Given the description of an element on the screen output the (x, y) to click on. 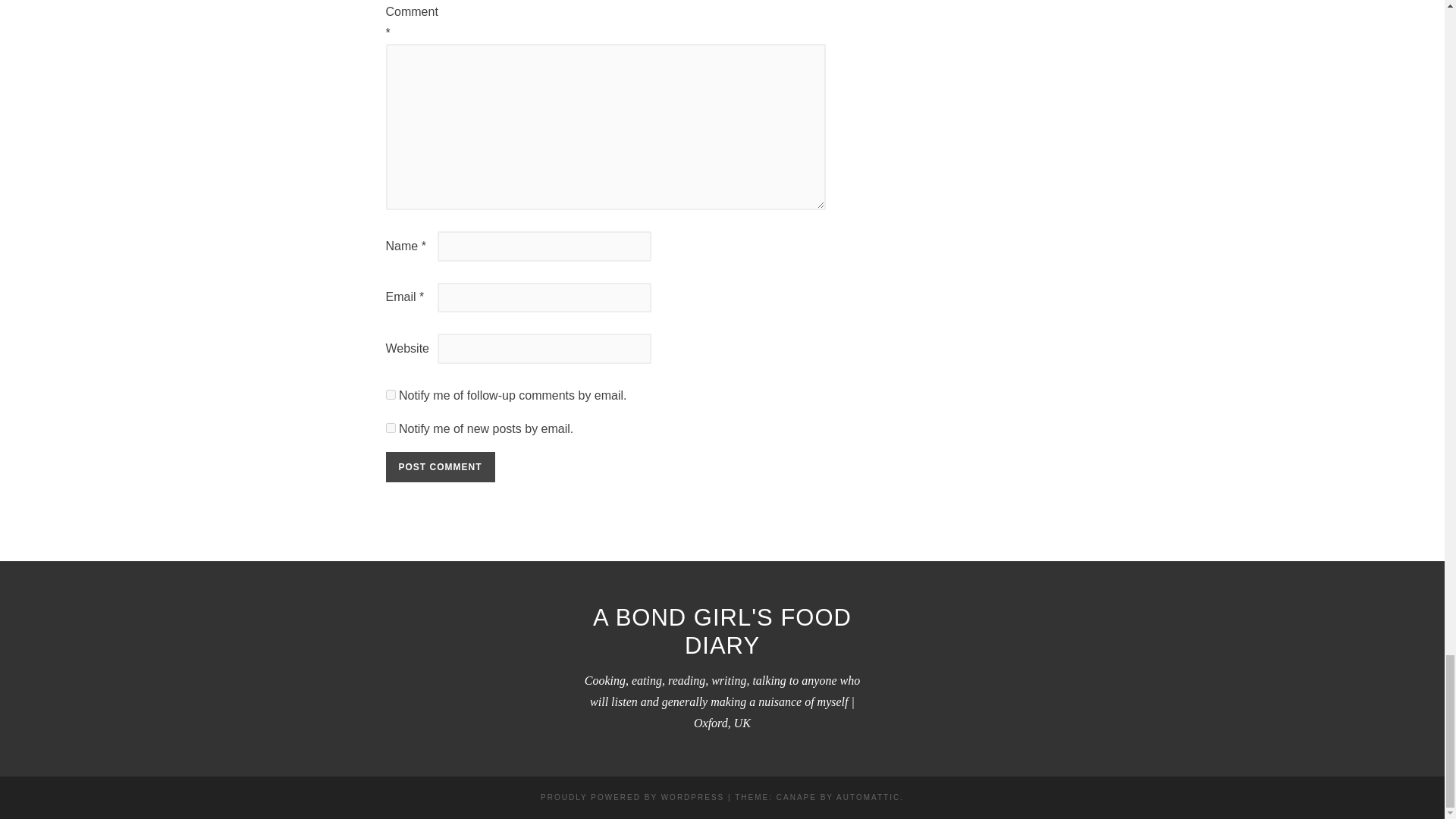
subscribe (389, 428)
Post Comment (440, 467)
Post Comment (440, 467)
A Bond Girl's Food Diary (721, 632)
subscribe (389, 394)
